Given the description of an element on the screen output the (x, y) to click on. 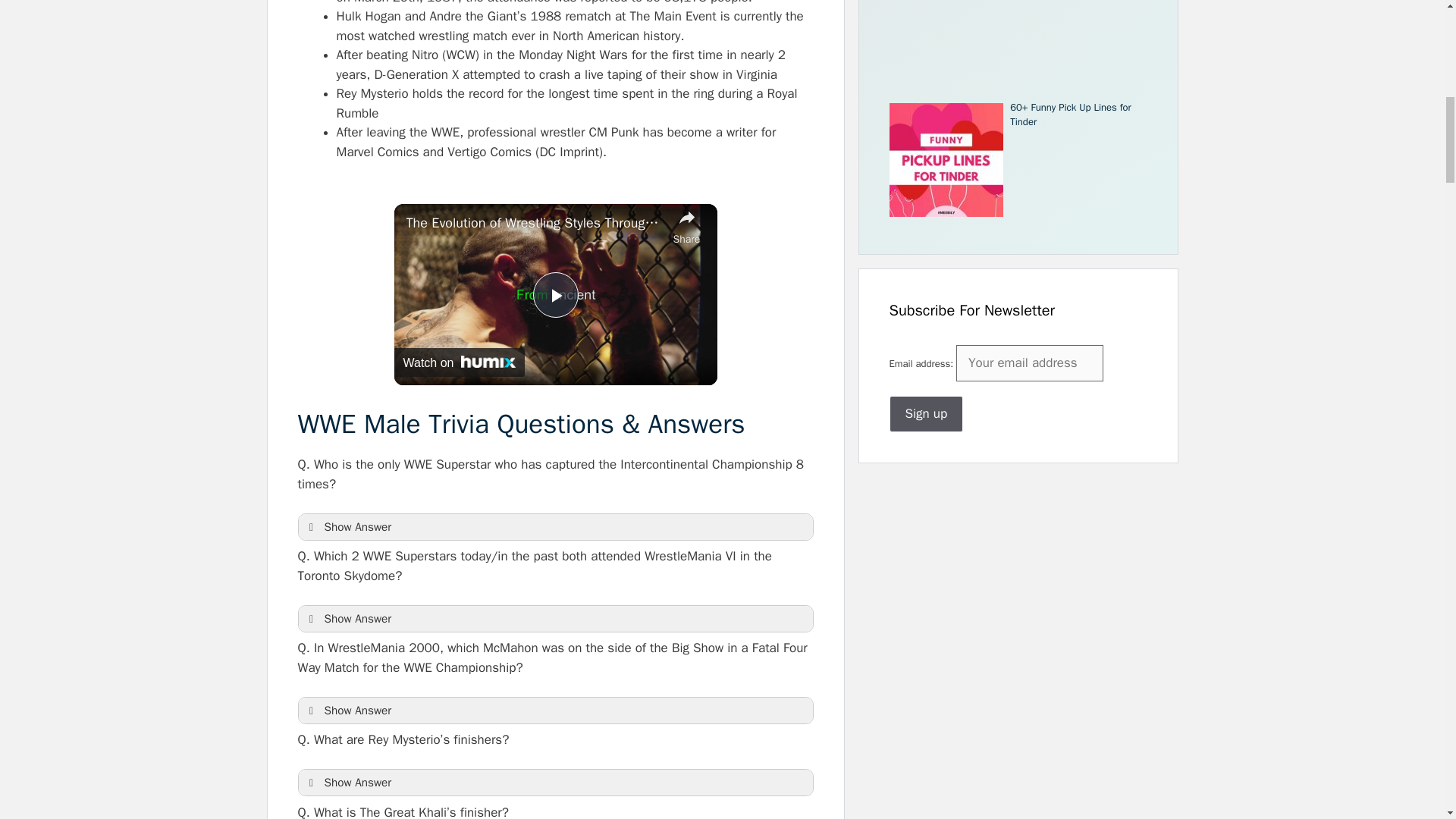
Sign up (925, 413)
Play Video (555, 294)
